Given the description of an element on the screen output the (x, y) to click on. 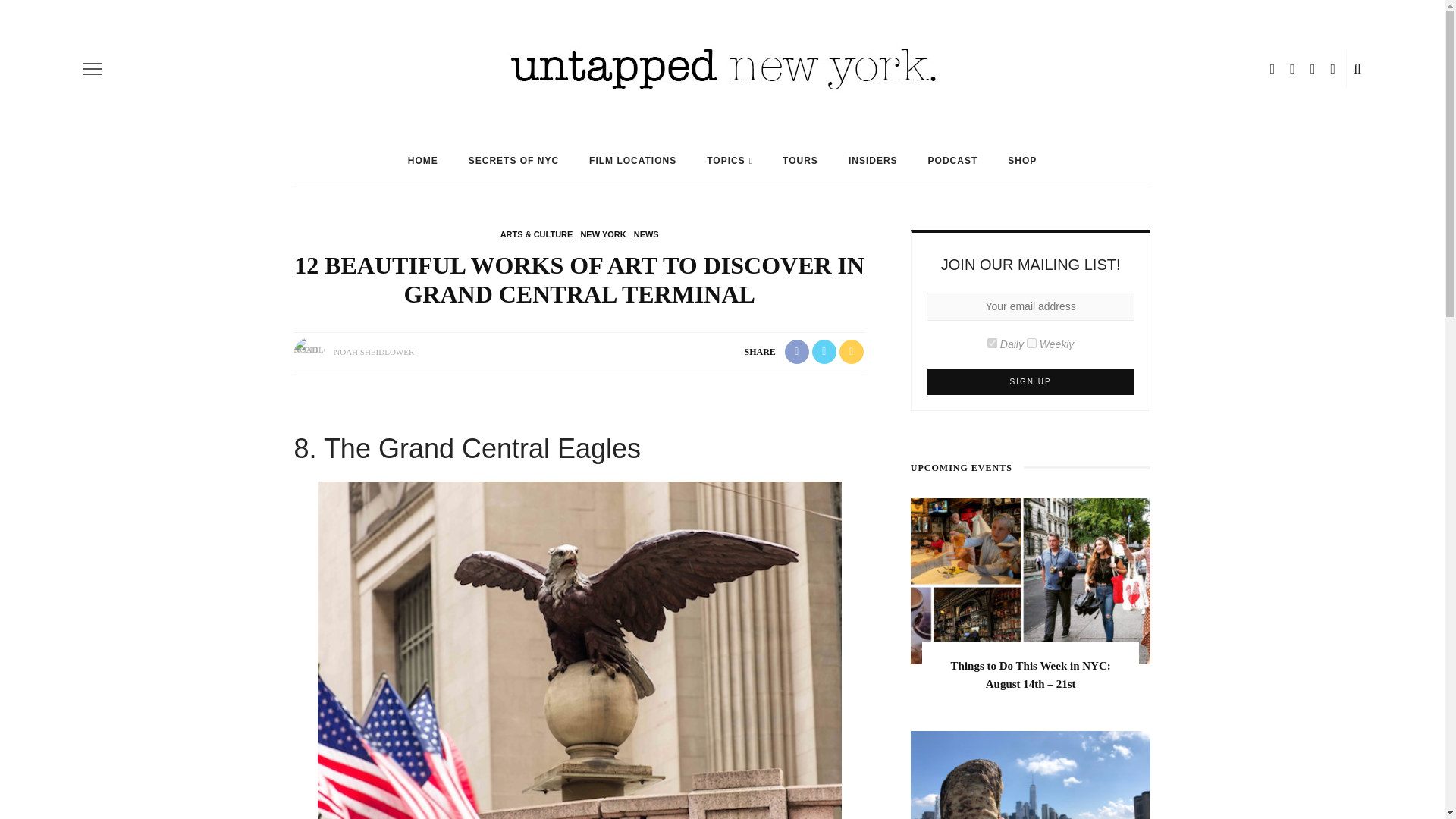
7cff6a70fd (1031, 343)
e99a09560c (992, 343)
off canvas button (91, 68)
Sign up (1030, 381)
Post by Noah Sheidlower (373, 351)
